Given the description of an element on the screen output the (x, y) to click on. 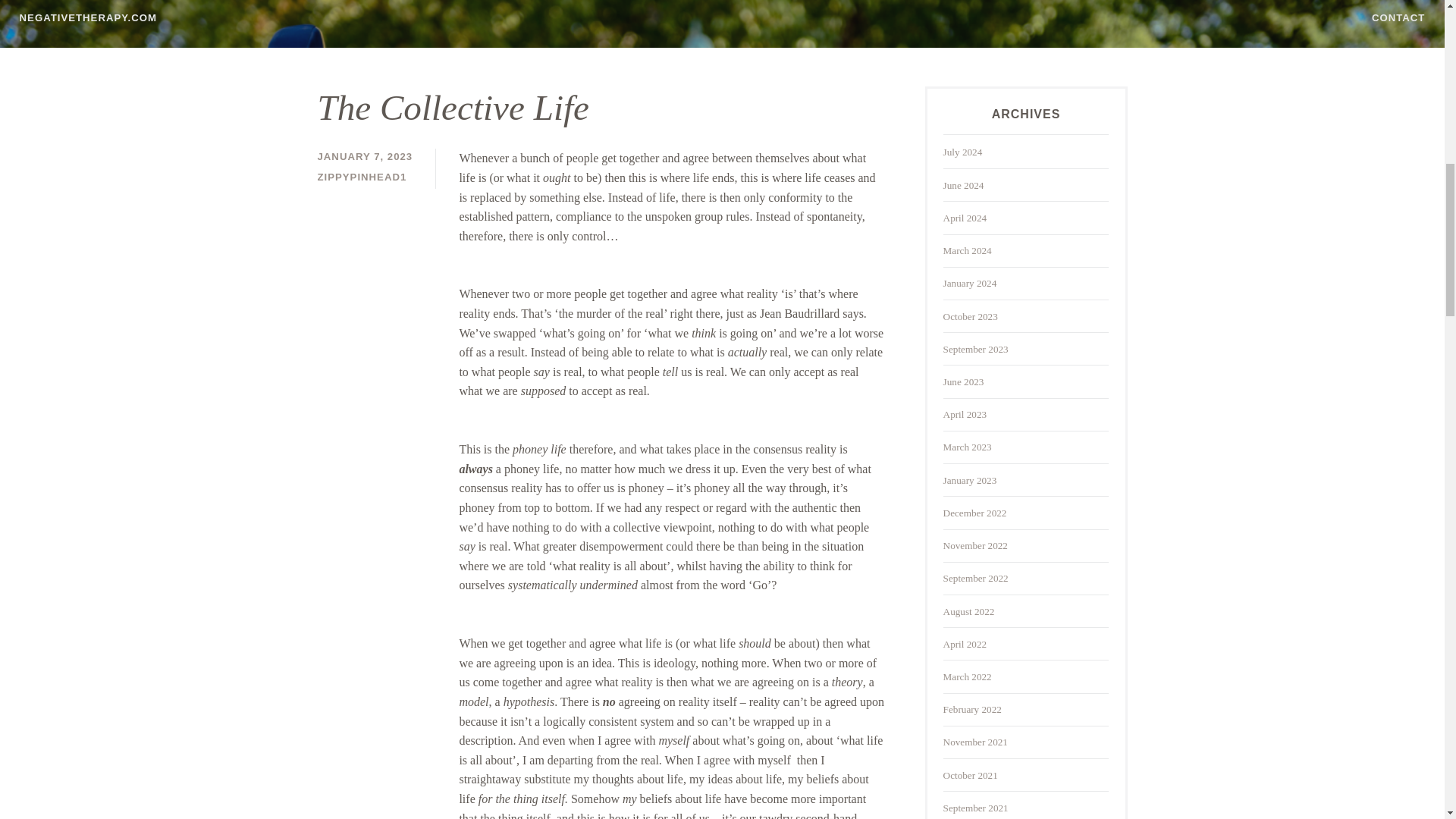
September 2022 (976, 577)
October 2021 (970, 775)
March 2023 (967, 446)
ZIPPYPINHEAD1 (361, 176)
JANUARY 7, 2023 (364, 156)
September 2023 (976, 348)
April 2023 (965, 414)
November 2022 (975, 545)
June 2023 (963, 381)
March 2024 (967, 250)
November 2021 (975, 741)
August 2022 (968, 611)
April 2022 (965, 644)
December 2022 (975, 512)
June 2024 (963, 184)
